Given the description of an element on the screen output the (x, y) to click on. 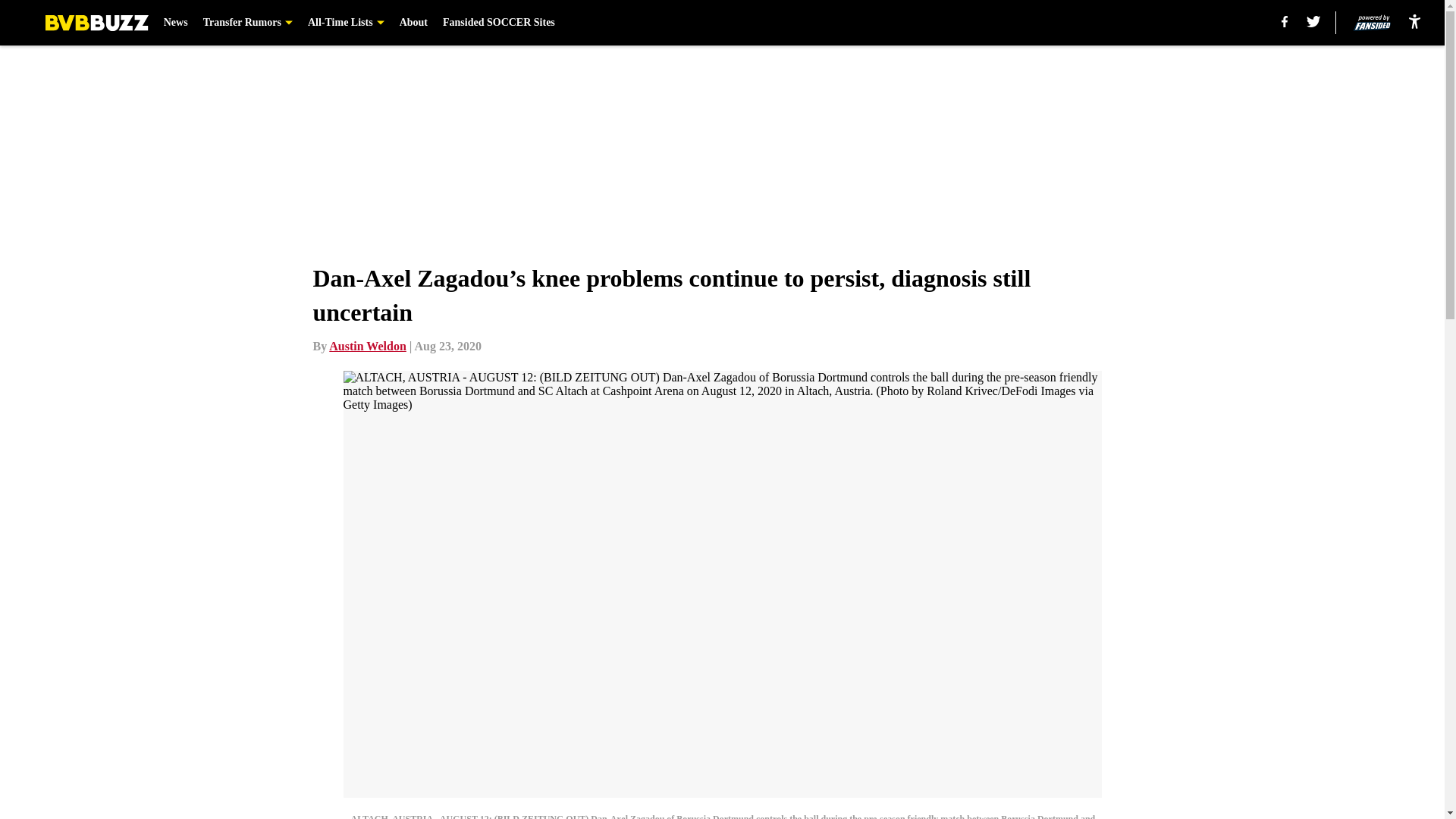
News (175, 22)
Fansided SOCCER Sites (498, 22)
Austin Weldon (367, 345)
About (413, 22)
